Given the description of an element on the screen output the (x, y) to click on. 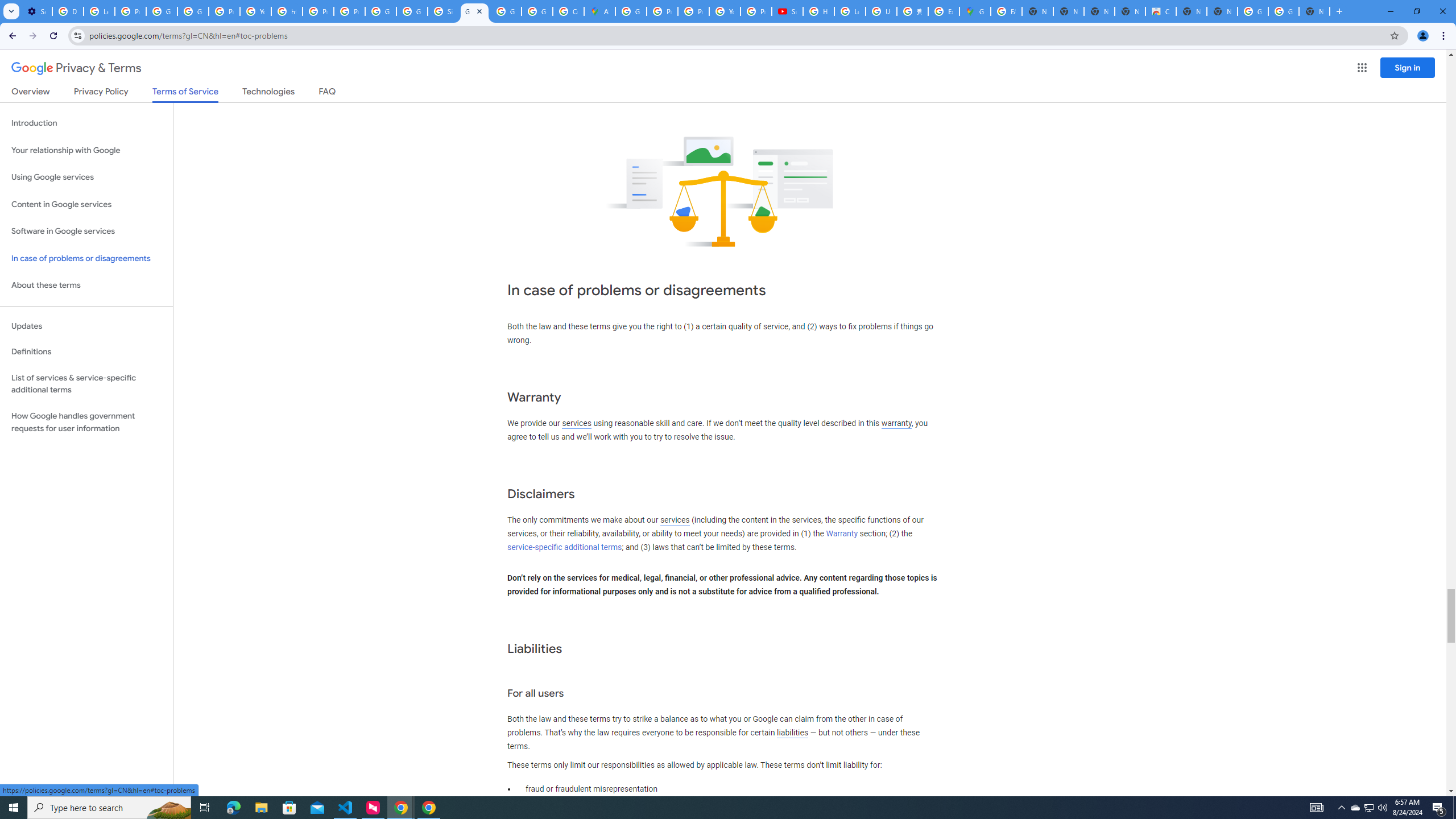
System (6, 6)
Google apps (1362, 67)
Reload (52, 35)
Settings - On startup (36, 11)
Technologies (268, 93)
Privacy Help Center - Policies Help (693, 11)
Definitions (86, 352)
New Tab (1314, 11)
Chrome (1445, 35)
services (674, 520)
View site information (77, 35)
Introduction (86, 122)
